Given the description of an element on the screen output the (x, y) to click on. 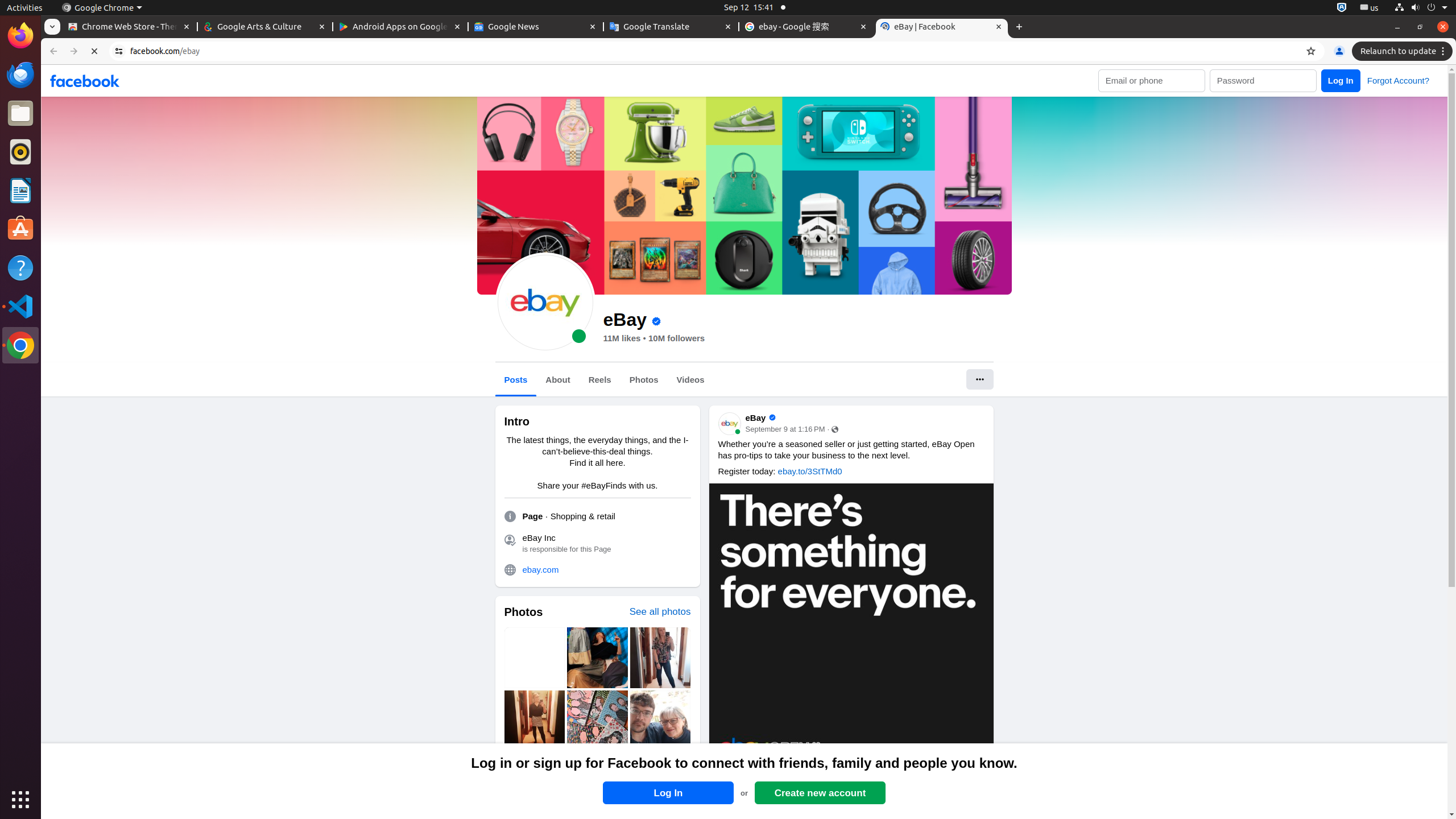
Page · Shopping & retail Element type: push-button (568, 516)
Reload Element type: push-button (94, 50)
Link to open profile cover photo Element type: link (743, 195)
Bookmark this tab Element type: push-button (1310, 51)
Posts Element type: page-tab (515, 379)
